Given the description of an element on the screen output the (x, y) to click on. 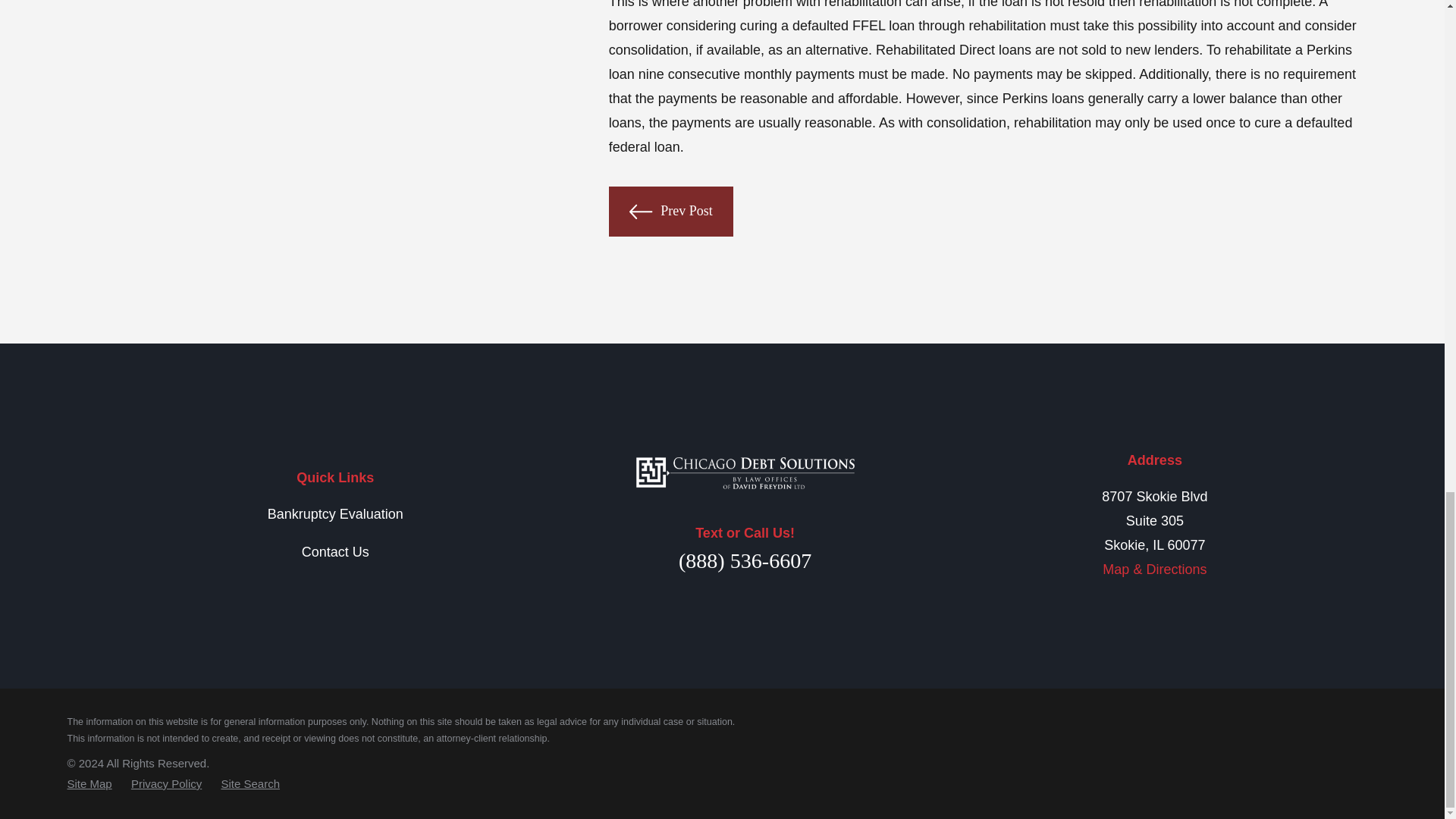
Home (745, 472)
